Given the description of an element on the screen output the (x, y) to click on. 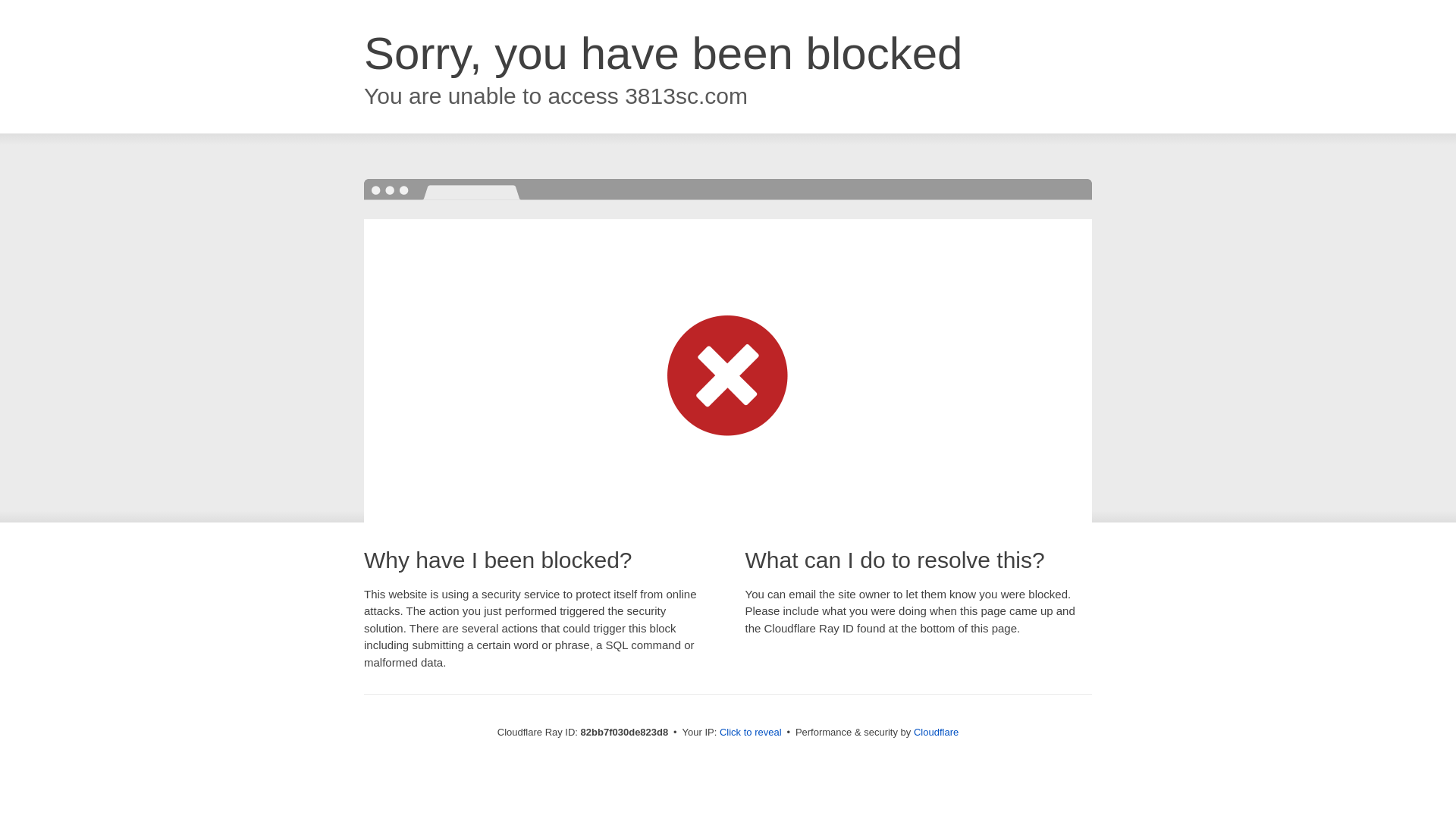
Cloudflare Element type: text (935, 731)
Click to reveal Element type: text (750, 732)
